Given the description of an element on the screen output the (x, y) to click on. 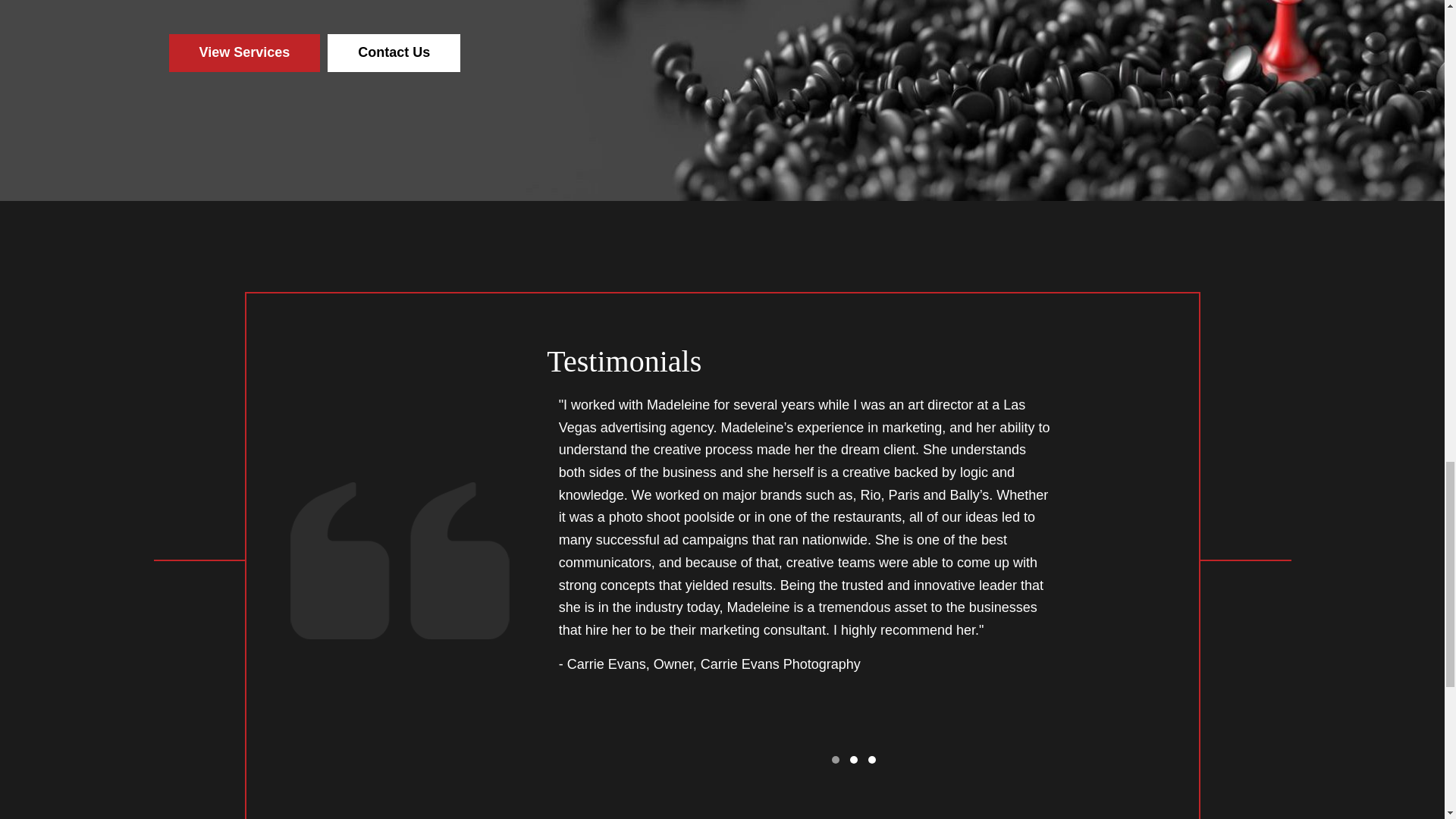
Testimonial Slide 2 (853, 759)
Testimonial Slide 3 (871, 759)
Testimonial Slide 1 (835, 759)
Contact Us (393, 53)
Madweek Marketing LLC (399, 560)
View Services (244, 53)
